Given the description of an element on the screen output the (x, y) to click on. 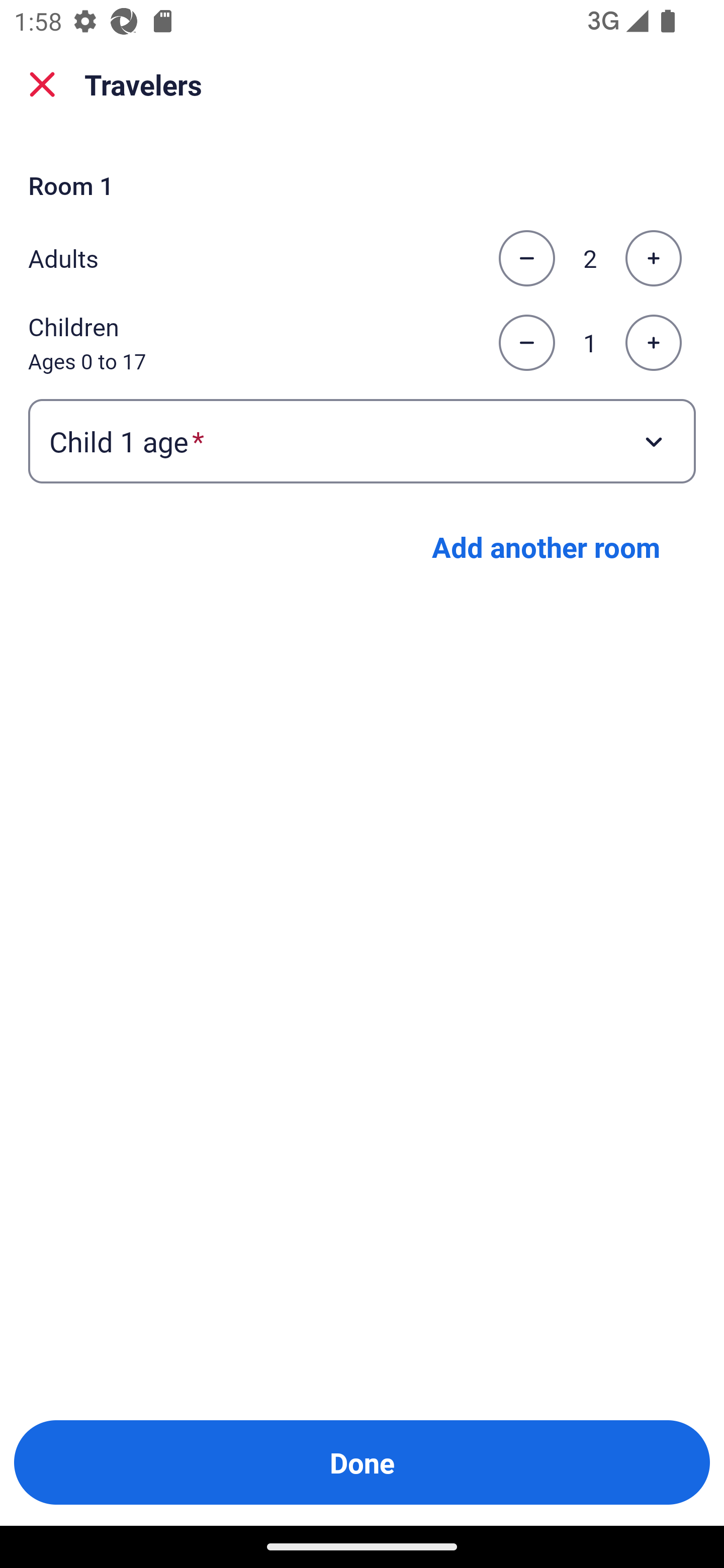
close (42, 84)
Decrease the number of adults (526, 258)
Increase the number of adults (653, 258)
Decrease the number of children (526, 343)
Increase the number of children (653, 343)
Child 1 age required Button (361, 440)
Add another room (545, 546)
Done (361, 1462)
